Given the description of an element on the screen output the (x, y) to click on. 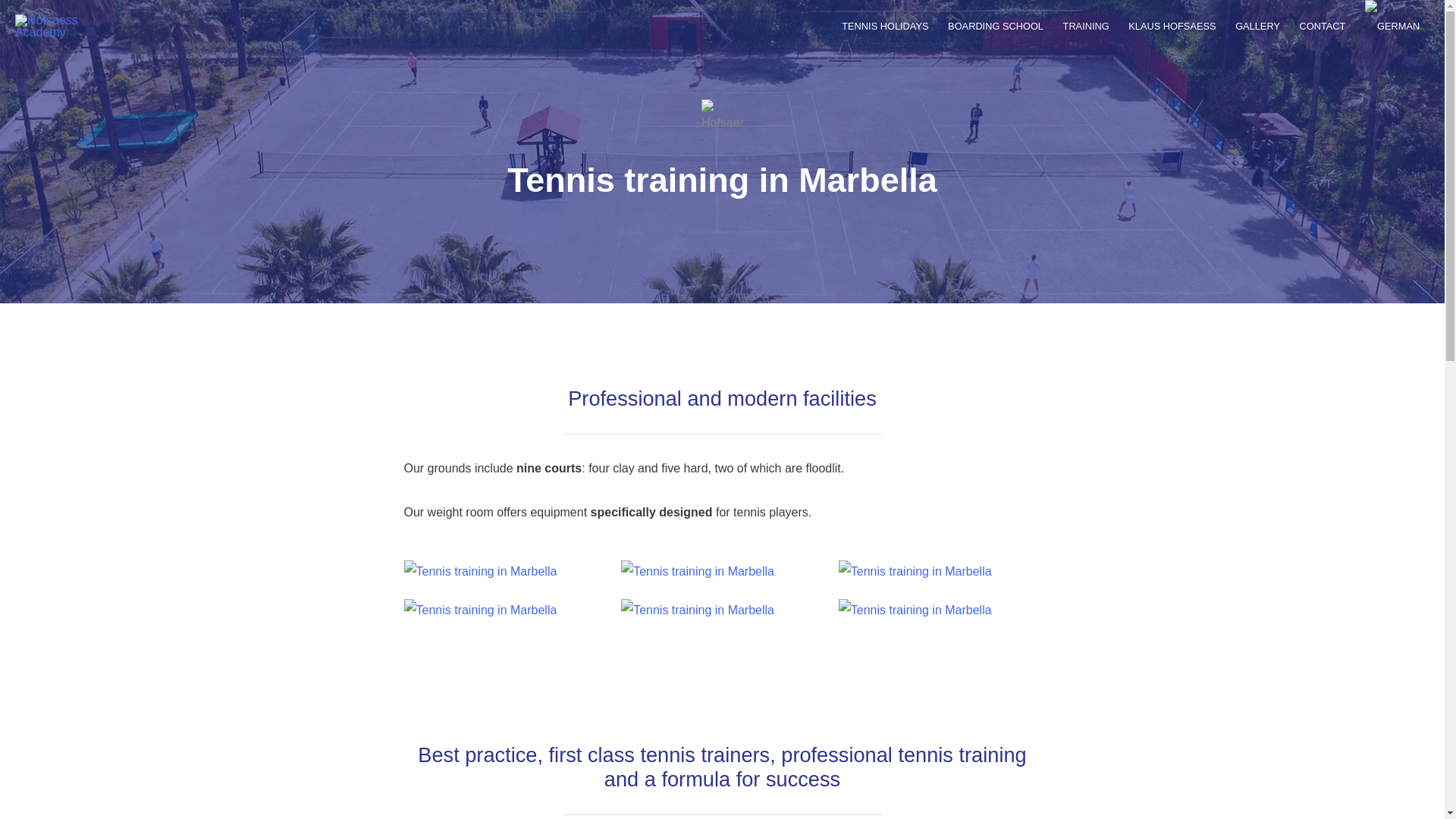
KLAUS HOFSAESS (1172, 26)
Tennis training 6 (697, 609)
TRAINING (1085, 26)
Tennis training 7 (914, 609)
Tennis training 1 (721, 119)
Tennis training 3 (697, 571)
GALLERY (1256, 26)
Tennis training 5 (479, 609)
Tennis training 2 (479, 571)
Tennis training 4 (914, 571)
BOARDING SCHOOL (994, 26)
TENNIS HOLIDAYS (884, 26)
CONTACT (1322, 26)
